Given the description of an element on the screen output the (x, y) to click on. 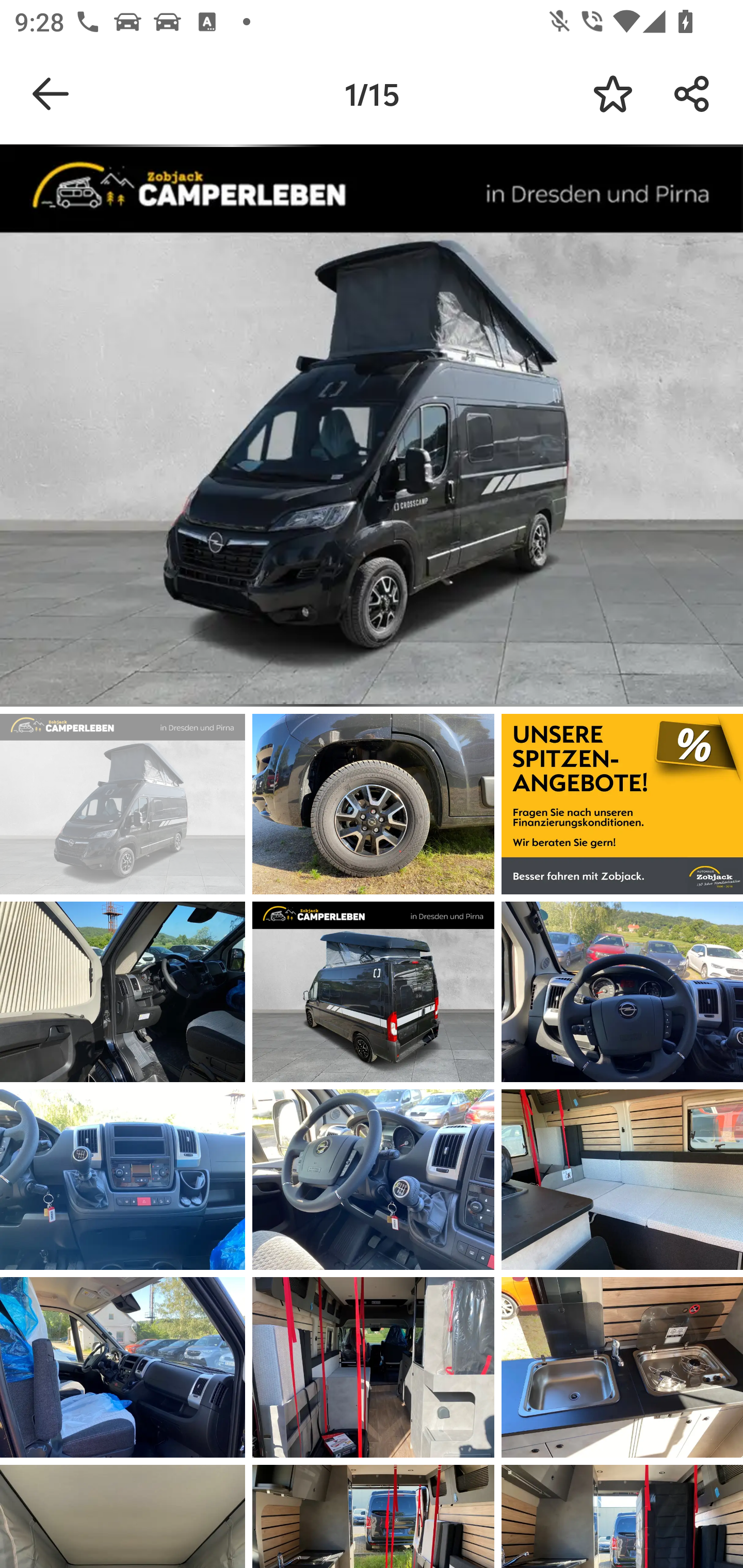
back button (50, 93)
share button (692, 93)
main image view (371, 428)
image (122, 803)
image (373, 803)
image (622, 803)
image (122, 991)
image (373, 991)
image (622, 991)
image (122, 1179)
image (373, 1179)
image (622, 1179)
image (122, 1367)
image (373, 1367)
image (622, 1367)
